Given the description of an element on the screen output the (x, y) to click on. 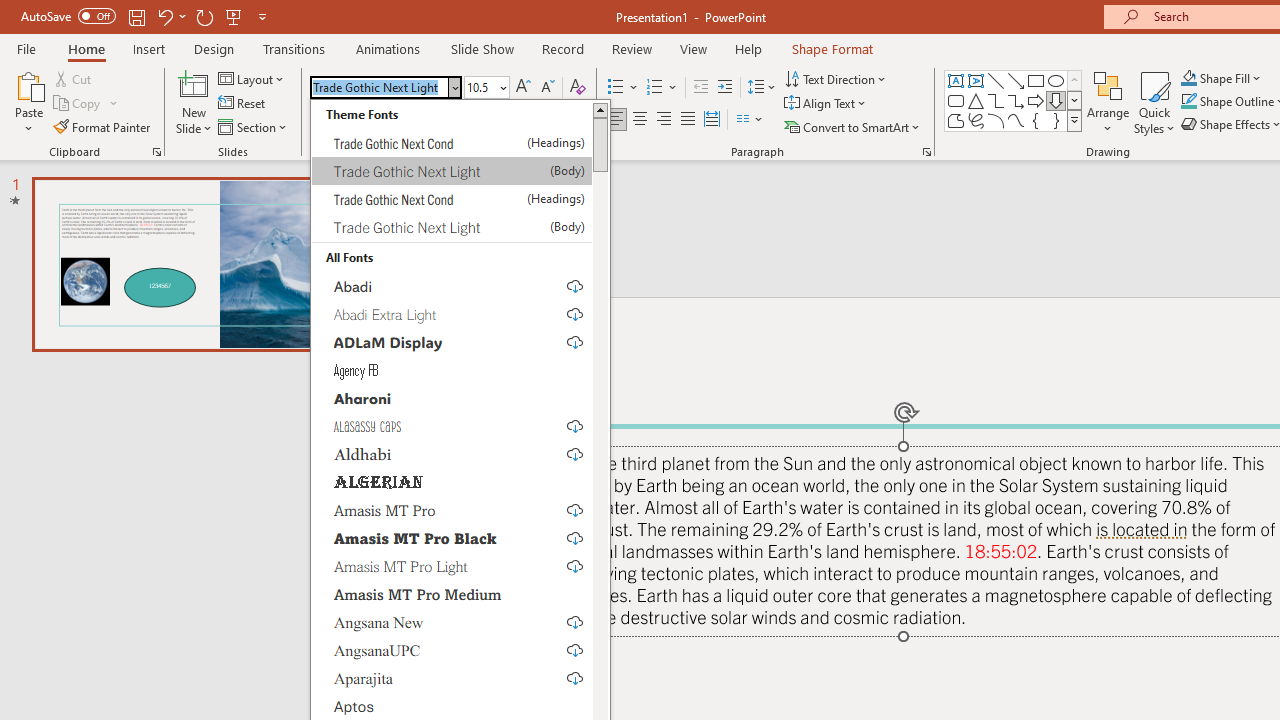
Columns (750, 119)
ADLaM Display, select to download (451, 341)
Paragraph... (926, 151)
Algerian (451, 482)
Curve (1016, 120)
New Slide (193, 102)
Format Painter (103, 126)
Trade Gothic Next Light (Body) (451, 227)
Change Case (486, 119)
Decrease Font Size (547, 87)
Center (639, 119)
Underline (369, 119)
Design (214, 48)
Rectangle (1035, 80)
Font (385, 87)
